Given the description of an element on the screen output the (x, y) to click on. 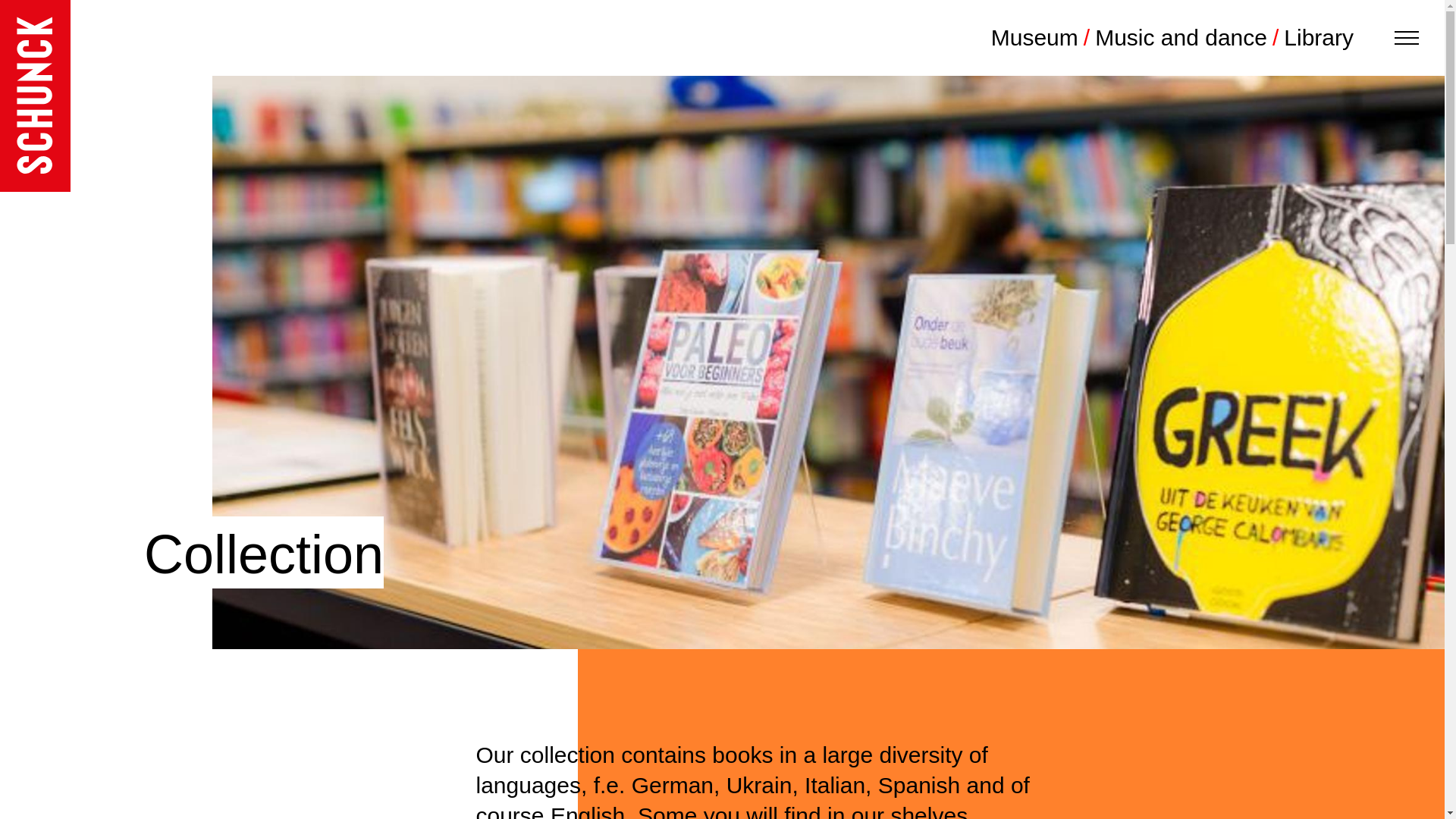
Museum (1042, 37)
Library (1319, 37)
Music and dance (1189, 37)
